Given the description of an element on the screen output the (x, y) to click on. 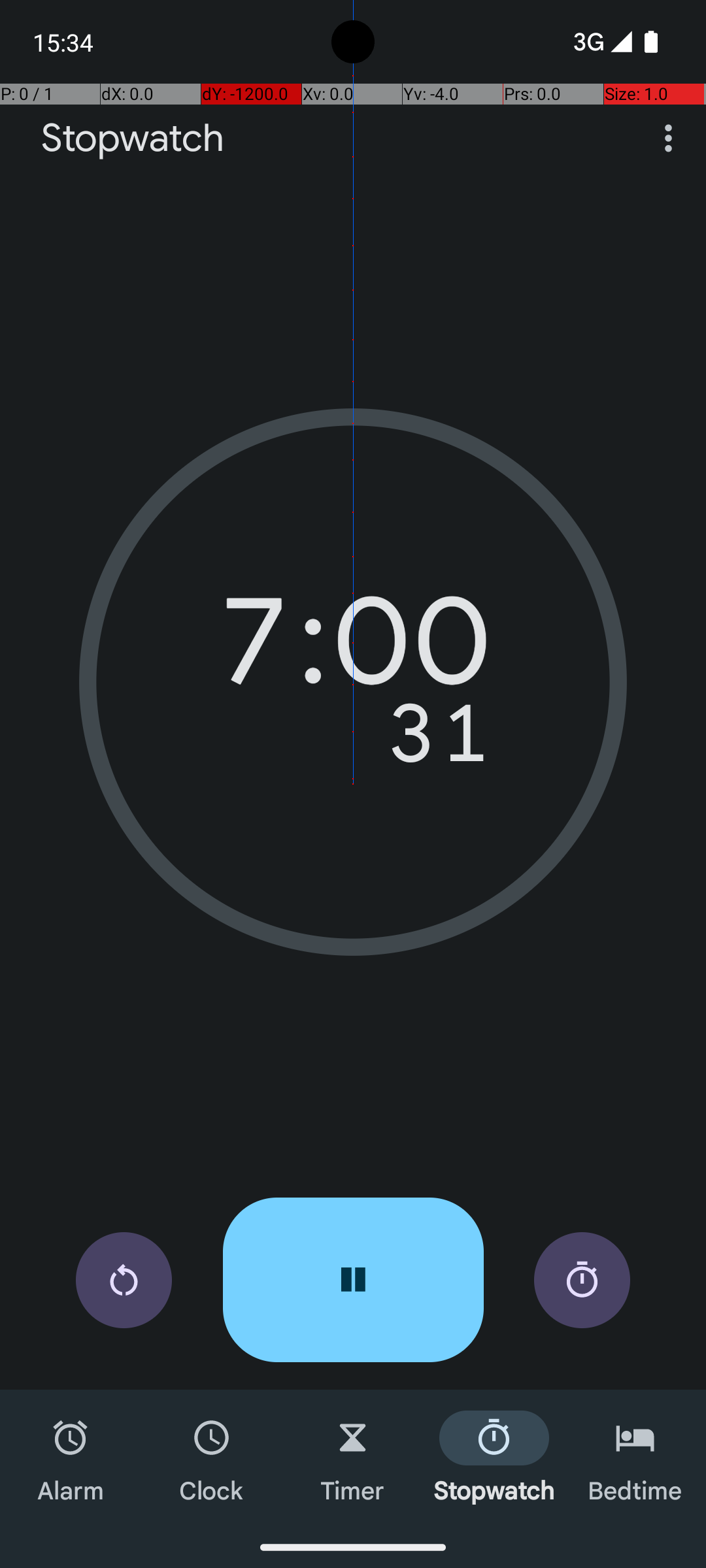
Lap Element type: android.widget.ImageButton (582, 1280)
6:50 Element type: android.widget.TextView (352, 650)
3G Element type: android.widget.ImageView (587, 41)
